Given the description of an element on the screen output the (x, y) to click on. 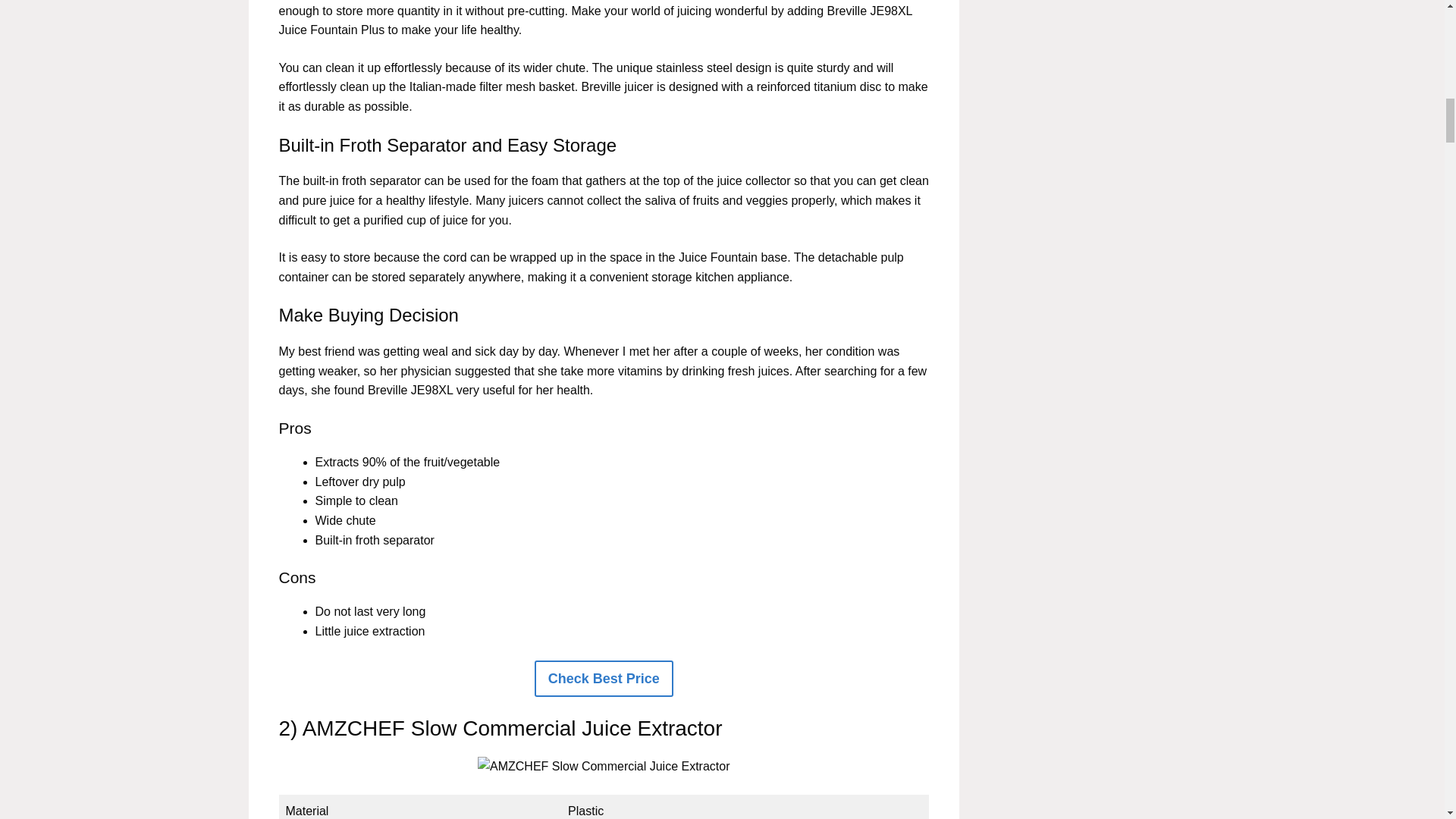
Check Best Price (603, 678)
